Given the description of an element on the screen output the (x, y) to click on. 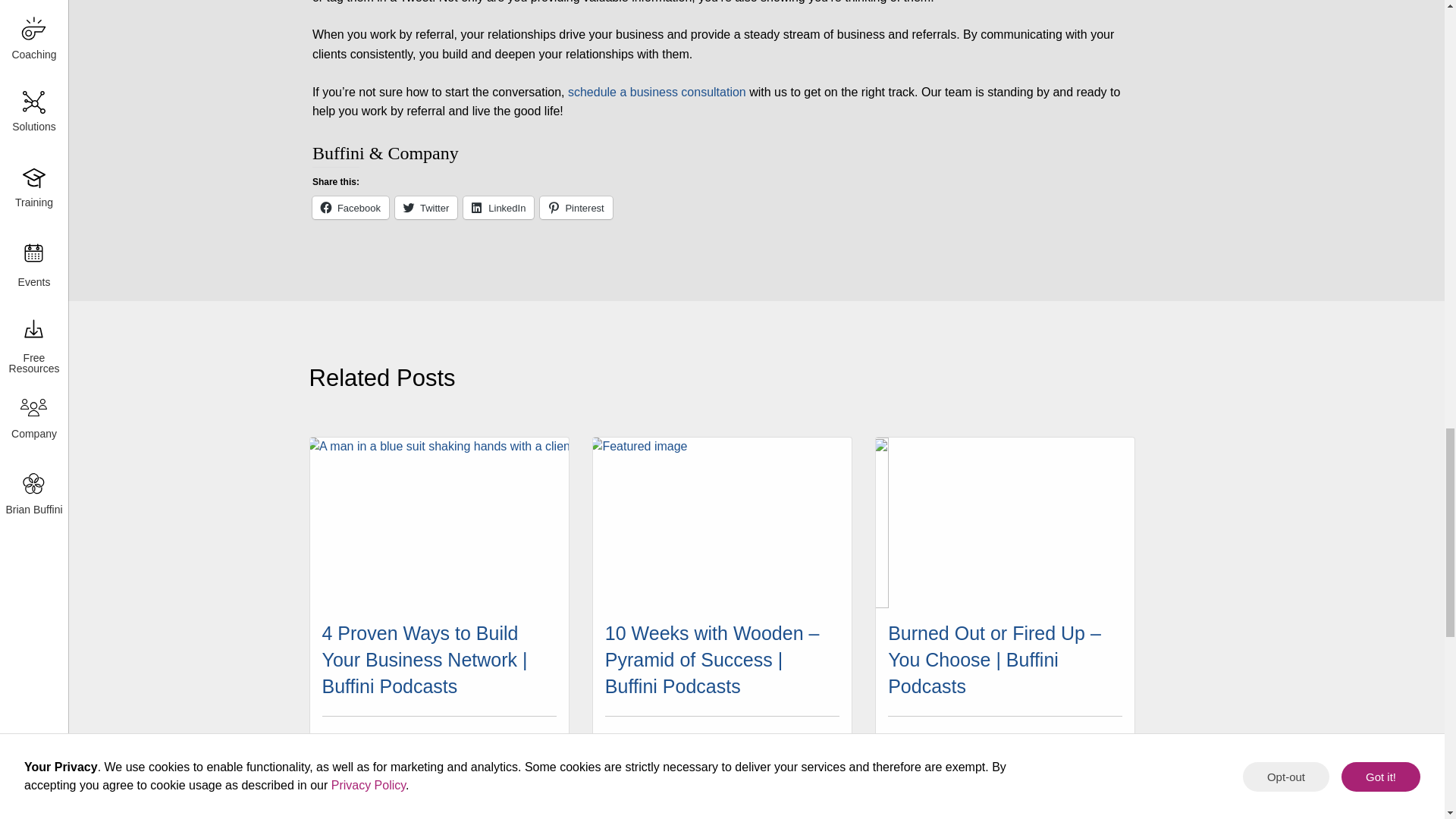
Click to share on Twitter (425, 207)
Click to share on Facebook (350, 207)
Click to share on Pinterest (575, 207)
Click to share on LinkedIn (498, 207)
